Given the description of an element on the screen output the (x, y) to click on. 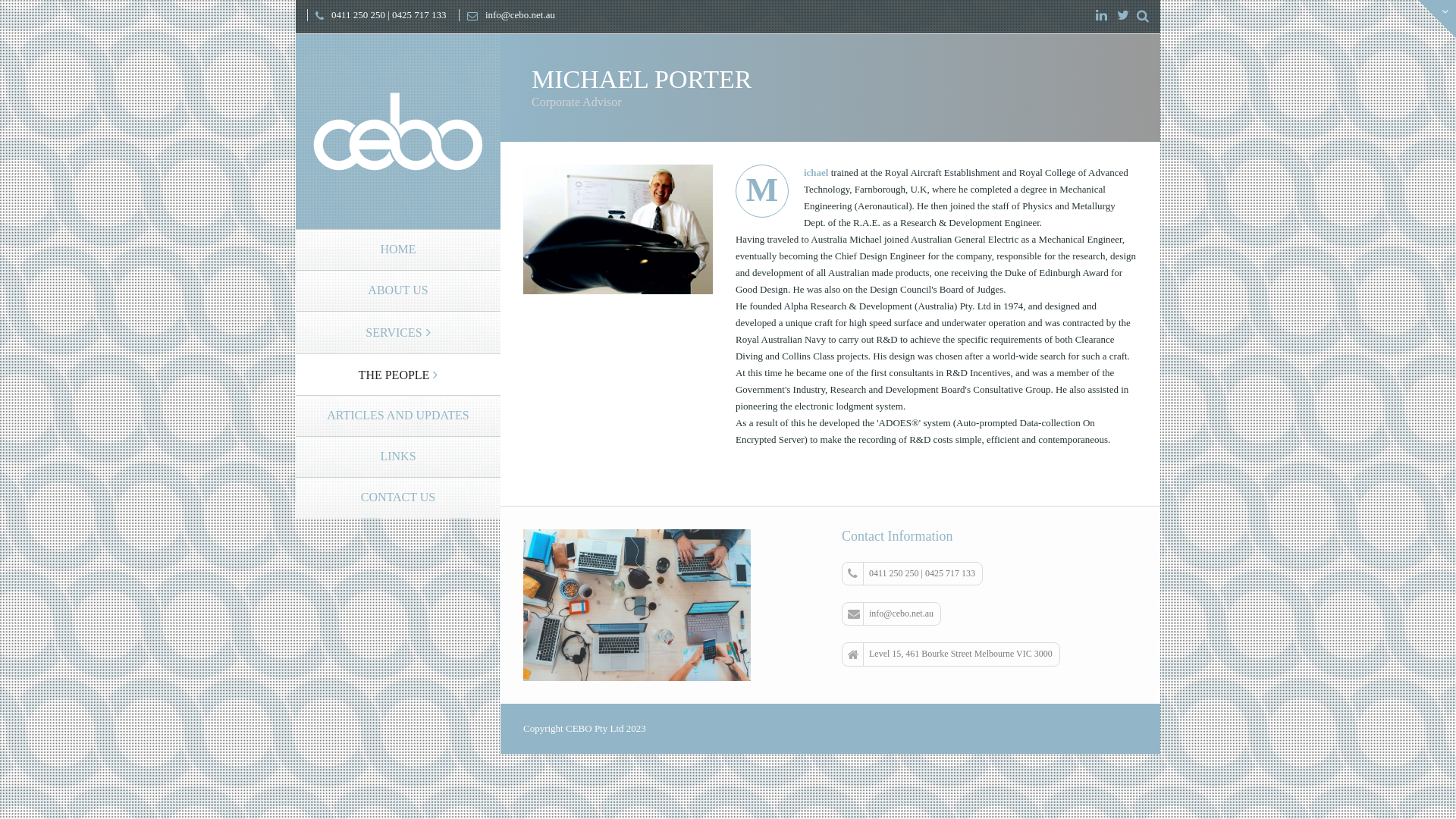
info@cebo.net.au Element type: text (891, 613)
Level 15, 461 Bourke Street Melbourne VIC 3000 Element type: text (950, 653)
ARTICLES AND UPDATES Element type: text (397, 415)
LinkedIn Element type: hover (1100, 15)
CONTACT US Element type: text (397, 496)
Twitter Element type: hover (1123, 15)
CEBO Element type: hover (398, 130)
Search the Site Element type: hover (1142, 16)
THE PEOPLE Element type: text (397, 374)
ABOUT US Element type: text (397, 289)
info@cebo.net.au Element type: text (507, 14)
LINKS Element type: text (397, 456)
HOME Element type: text (397, 249)
0411 250 250 | 0425 717 133 Element type: text (911, 573)
SERVICES Element type: text (397, 331)
